Given the description of an element on the screen output the (x, y) to click on. 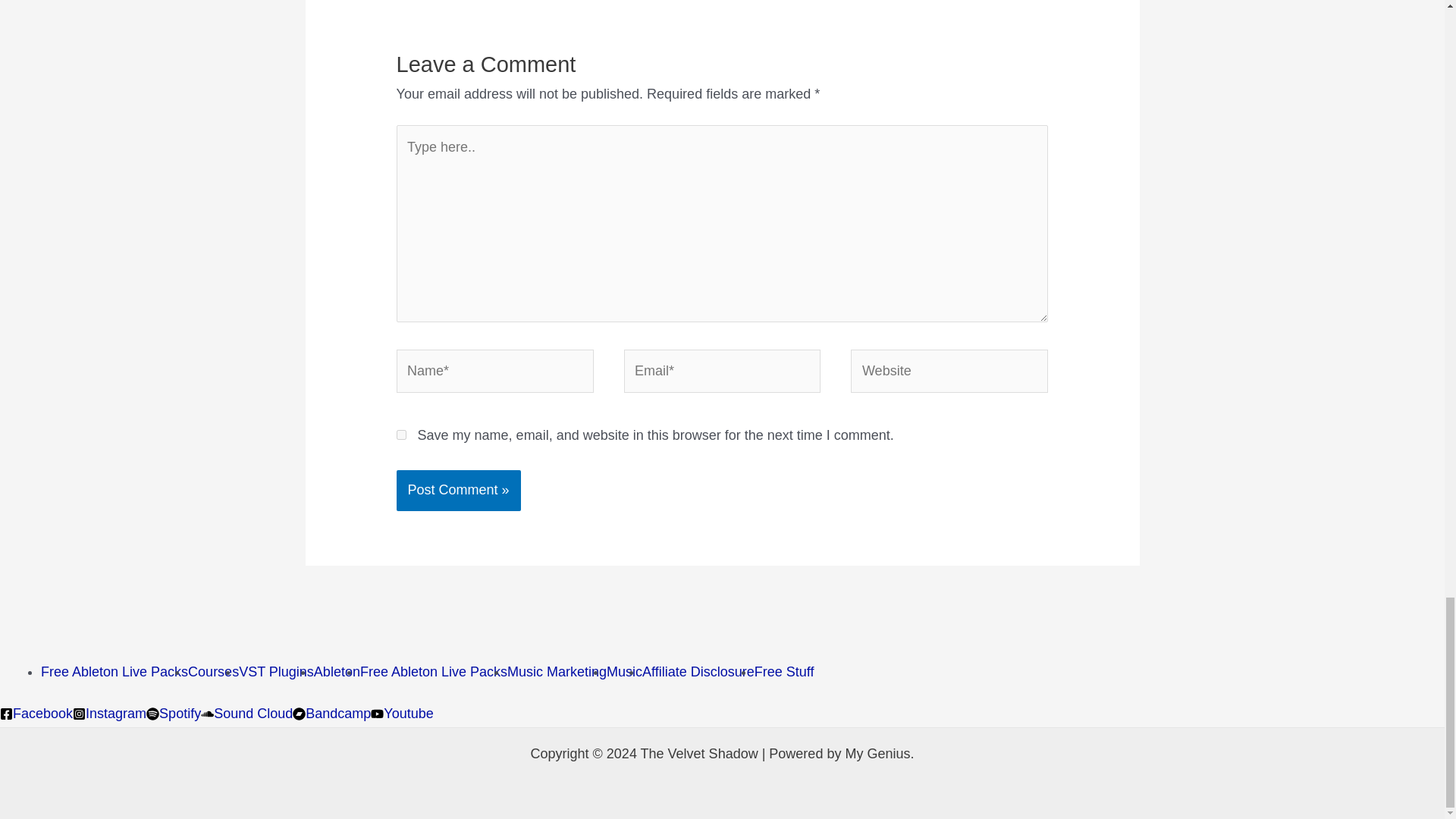
yes (401, 434)
